Given the description of an element on the screen output the (x, y) to click on. 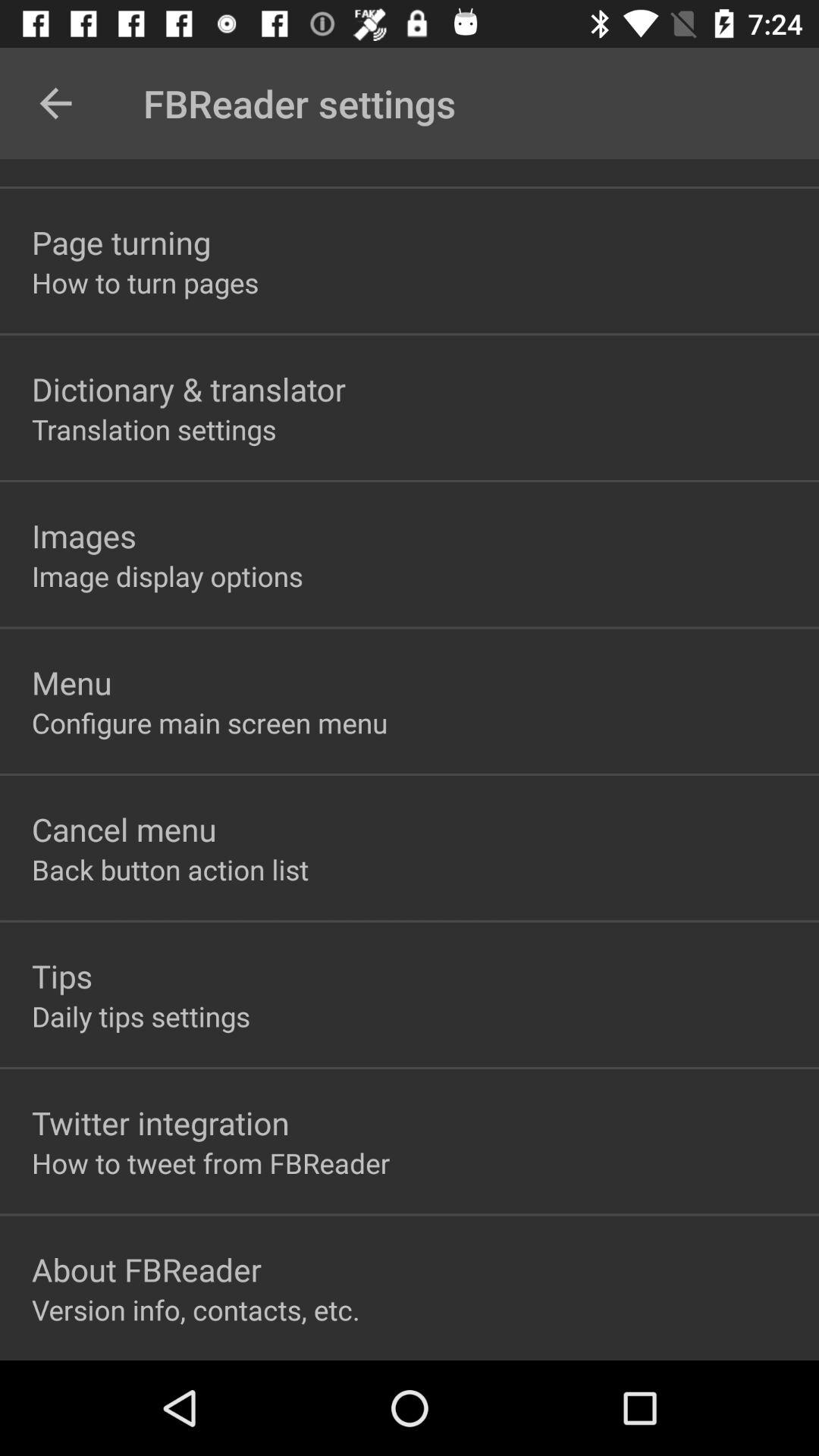
turn on daily tips settings item (140, 1016)
